Given the description of an element on the screen output the (x, y) to click on. 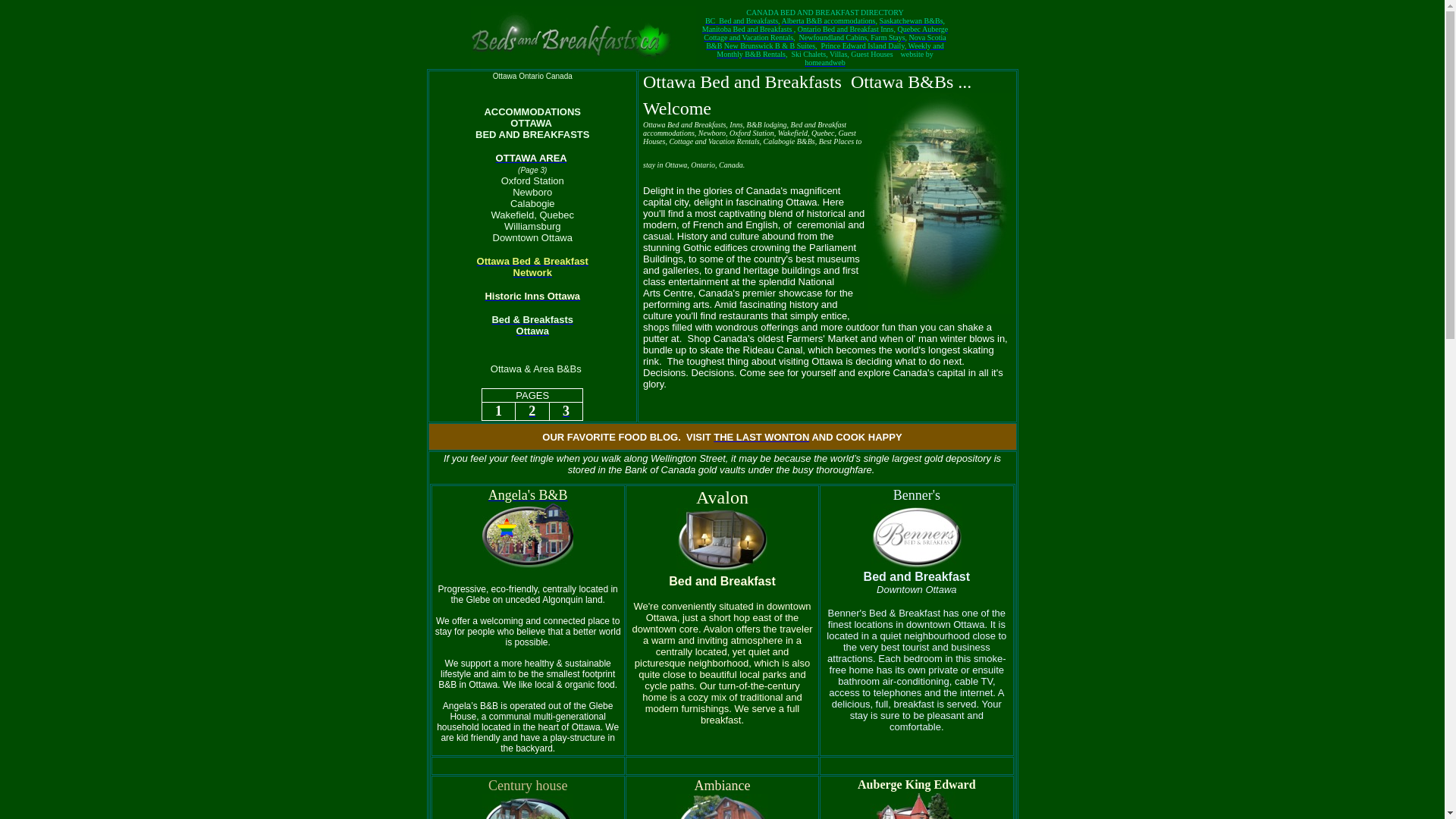
BC  Bed and Breakfasts Element type: text (741, 18)
Saskatchewan B&Bs, Element type: text (911, 18)
THE LAST WONTON Element type: text (761, 436)
Ontario Bed and Breakfast Element type: text (838, 27)
Bed & Breakfasts
Ottawa Element type: text (532, 324)
3 Element type: text (565, 410)
istoric Inns Ottawa Element type: text (536, 295)
2 Element type: text (531, 410)
New Brunswick B & B Suites, Element type: text (770, 43)
Ottawa Bed & Breakfast
Network Element type: text (532, 266)
Nova Scotia B&B Element type: text (826, 39)
H Element type: text (487, 294)
Prince Edward Island Daily, Weekly and Monthly B&B Rentals Element type: text (829, 48)
Angela's B&B Element type: text (527, 530)
Quebec Auberge Cottage and Vacation Rentals Element type: text (825, 31)
OTTAWA AREA Element type: text (531, 156)
Manitoba Bed and Breakfasts Element type: text (747, 27)
Newfoundland Cabins, Farm Stays Element type: text (852, 35)
Alberta B&B accommodations Element type: text (828, 18)
homeandweb Element type: text (824, 62)
